Given the description of an element on the screen output the (x, y) to click on. 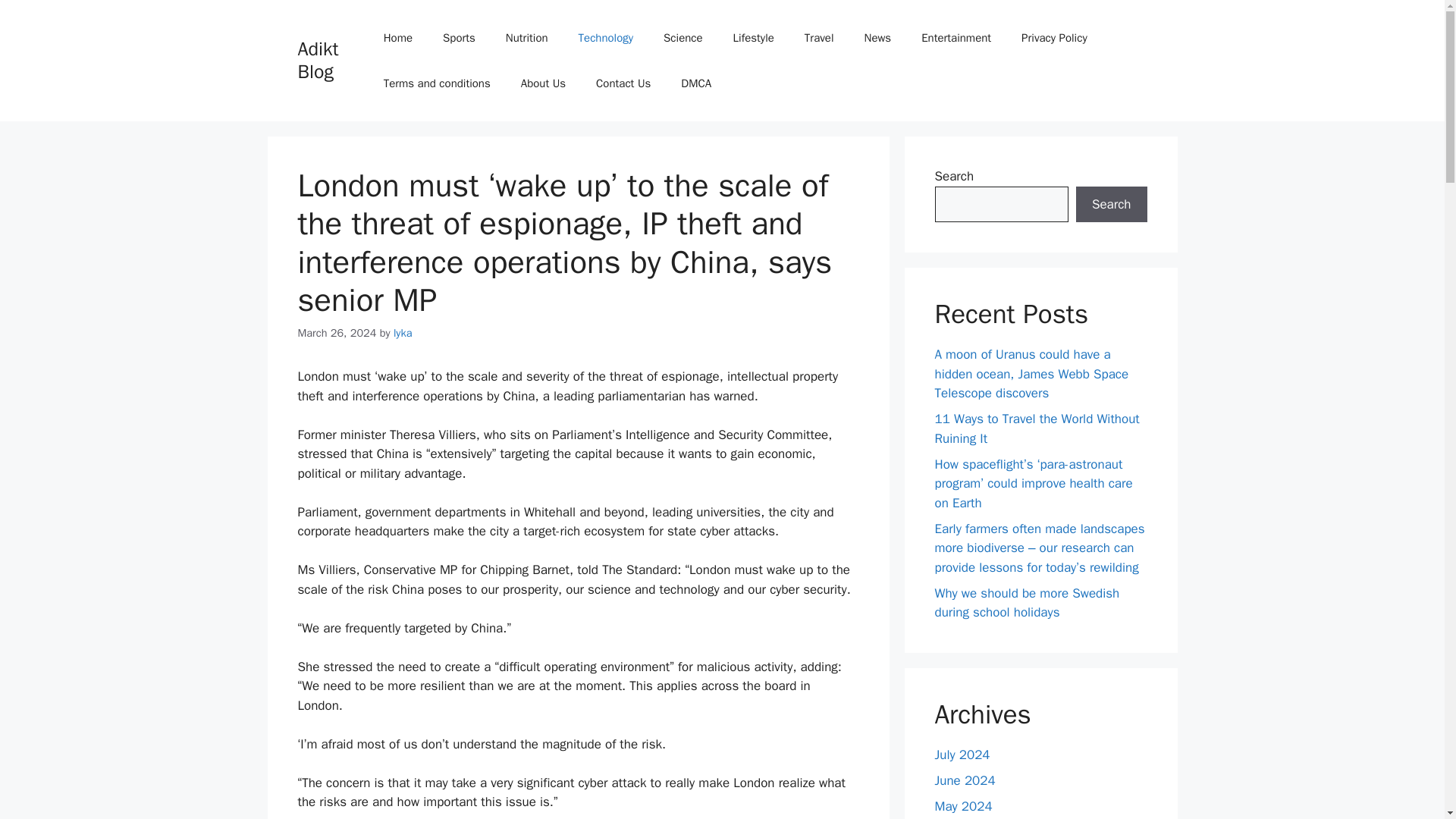
Travel (818, 37)
lyka (402, 332)
Entertainment (955, 37)
About Us (542, 83)
Privacy Policy (1054, 37)
Technology (606, 37)
View all posts by lyka (402, 332)
Sports (459, 37)
Terms and conditions (436, 83)
11 Ways to Travel the World Without Ruining It (1036, 428)
Lifestyle (753, 37)
DMCA (695, 83)
News (877, 37)
Search (1111, 204)
